Given the description of an element on the screen output the (x, y) to click on. 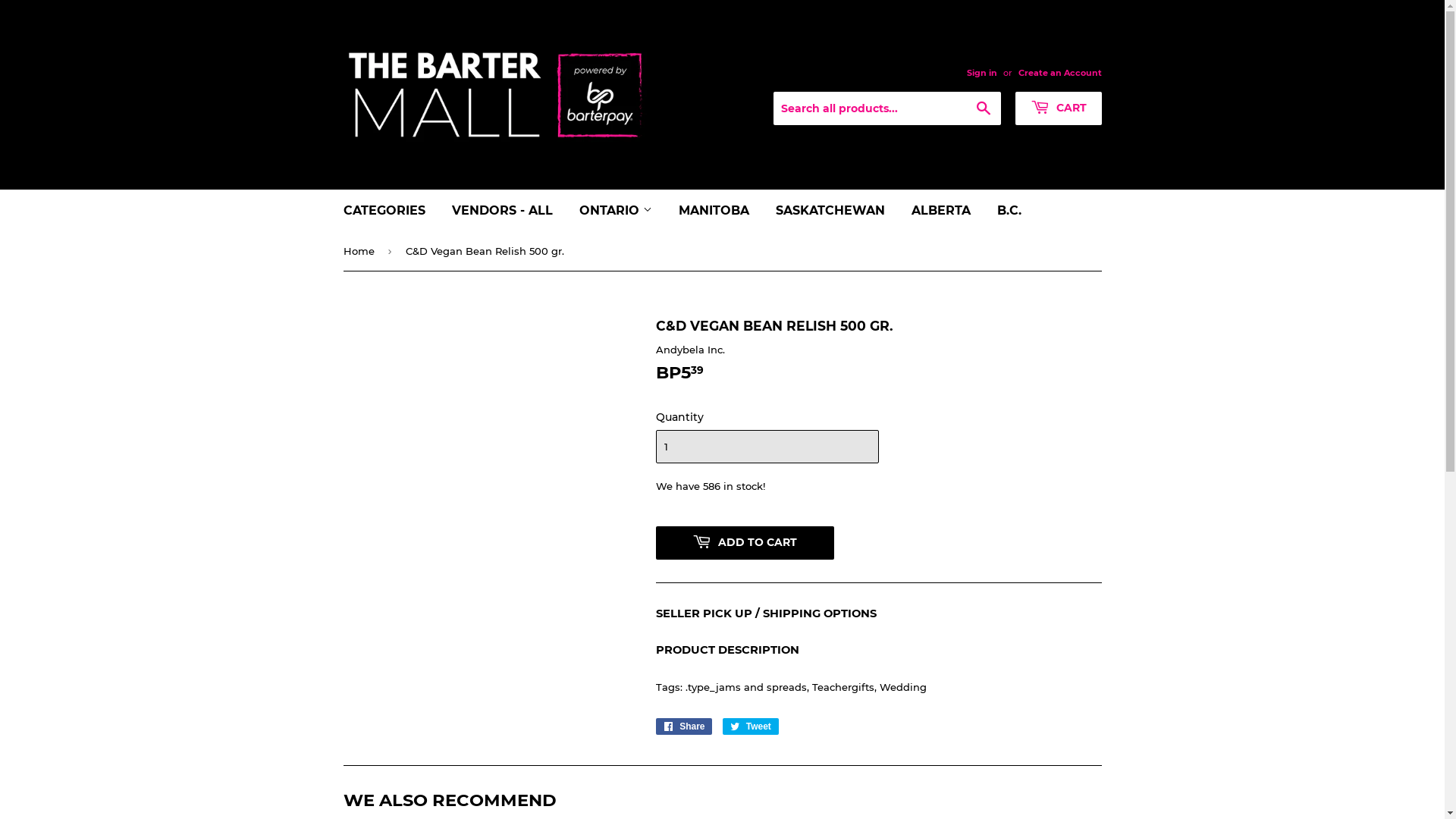
Share
Share on Facebook Element type: text (683, 726)
Wedding Element type: text (902, 686)
Home Element type: text (360, 251)
ALBERTA Element type: text (940, 210)
Tweet
Tweet on Twitter Element type: text (750, 726)
ONTARIO Element type: text (614, 210)
Teachergifts Element type: text (842, 686)
.type_jams and spreads Element type: text (745, 686)
CART Element type: text (1057, 108)
Sign in Element type: text (981, 72)
SASKATCHEWAN Element type: text (830, 210)
ADD TO CART Element type: text (744, 542)
CATEGORIES Element type: text (384, 210)
Search Element type: text (983, 109)
VENDORS - ALL Element type: text (501, 210)
MANITOBA Element type: text (713, 210)
B.C. Element type: text (1008, 210)
Create an Account Element type: text (1059, 72)
